Given the description of an element on the screen output the (x, y) to click on. 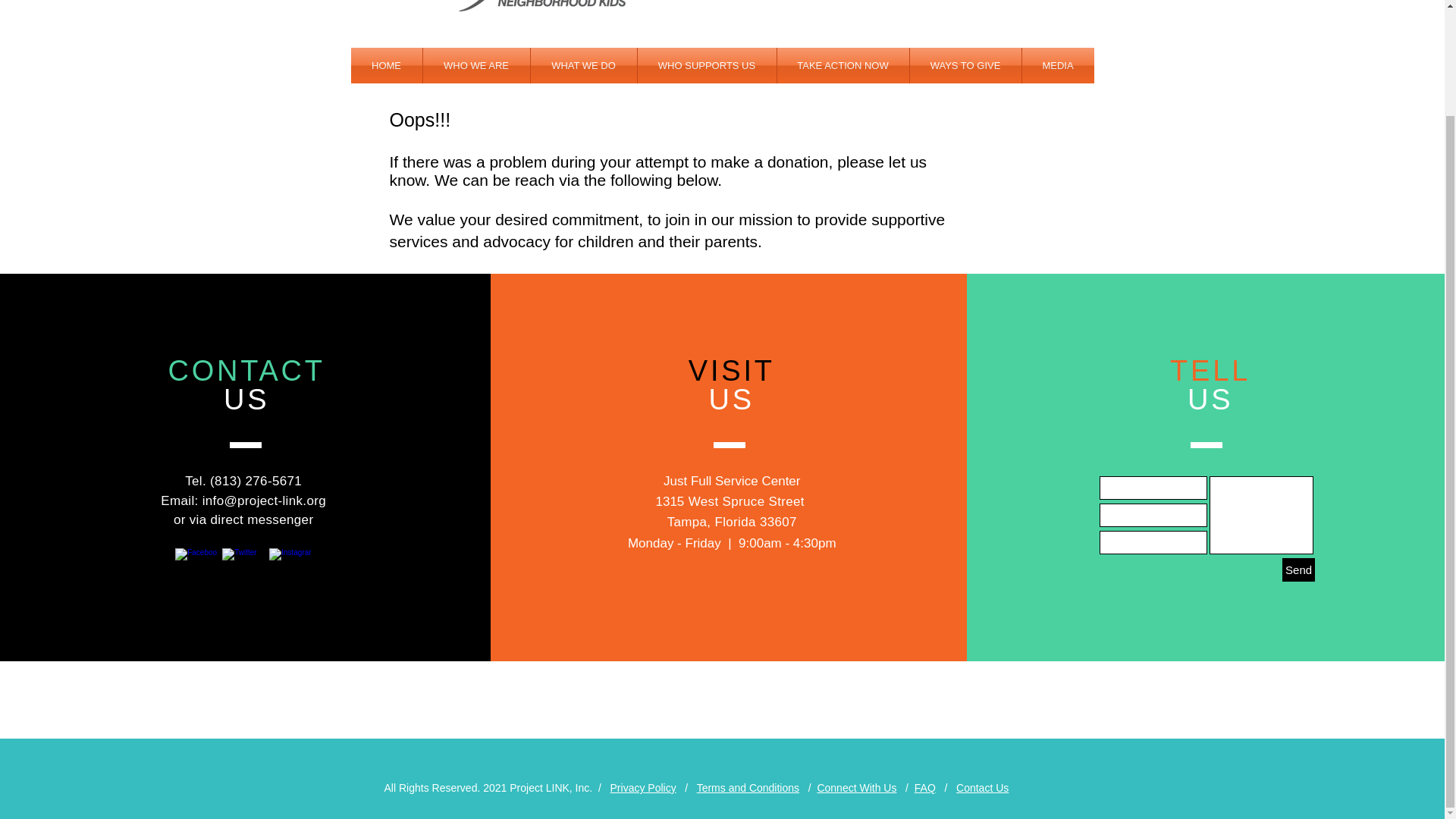
Send (1298, 569)
Contact Us (982, 787)
Policy (660, 787)
FAQ (925, 787)
HOME (386, 65)
Connect With Us (856, 787)
Terms and Conditions (748, 787)
